Given the description of an element on the screen output the (x, y) to click on. 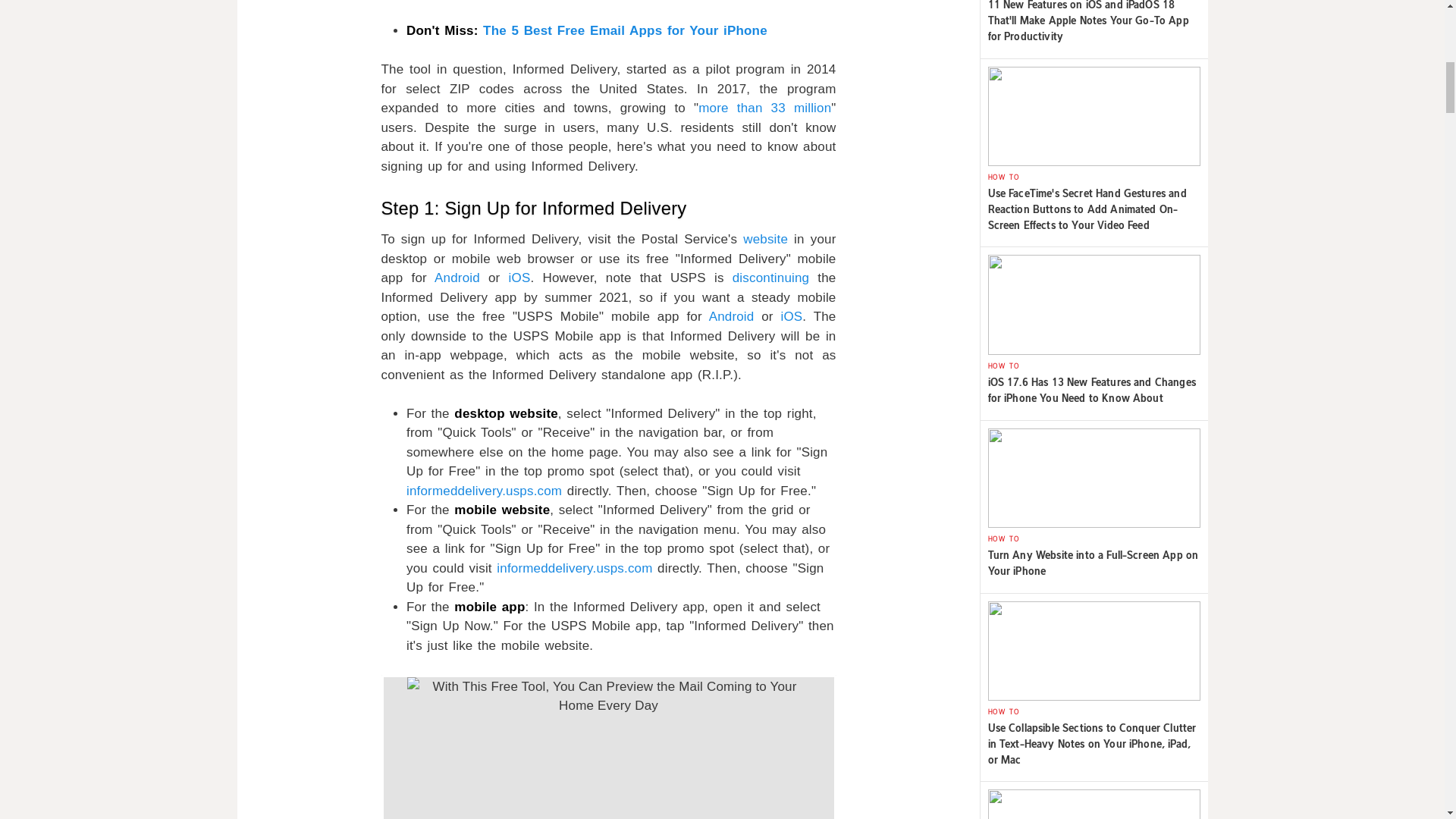
iOS (519, 278)
website (764, 238)
The 5 Best Free Email Apps for Your iPhone (625, 30)
more than 33 million (764, 107)
Android (456, 278)
